Given the description of an element on the screen output the (x, y) to click on. 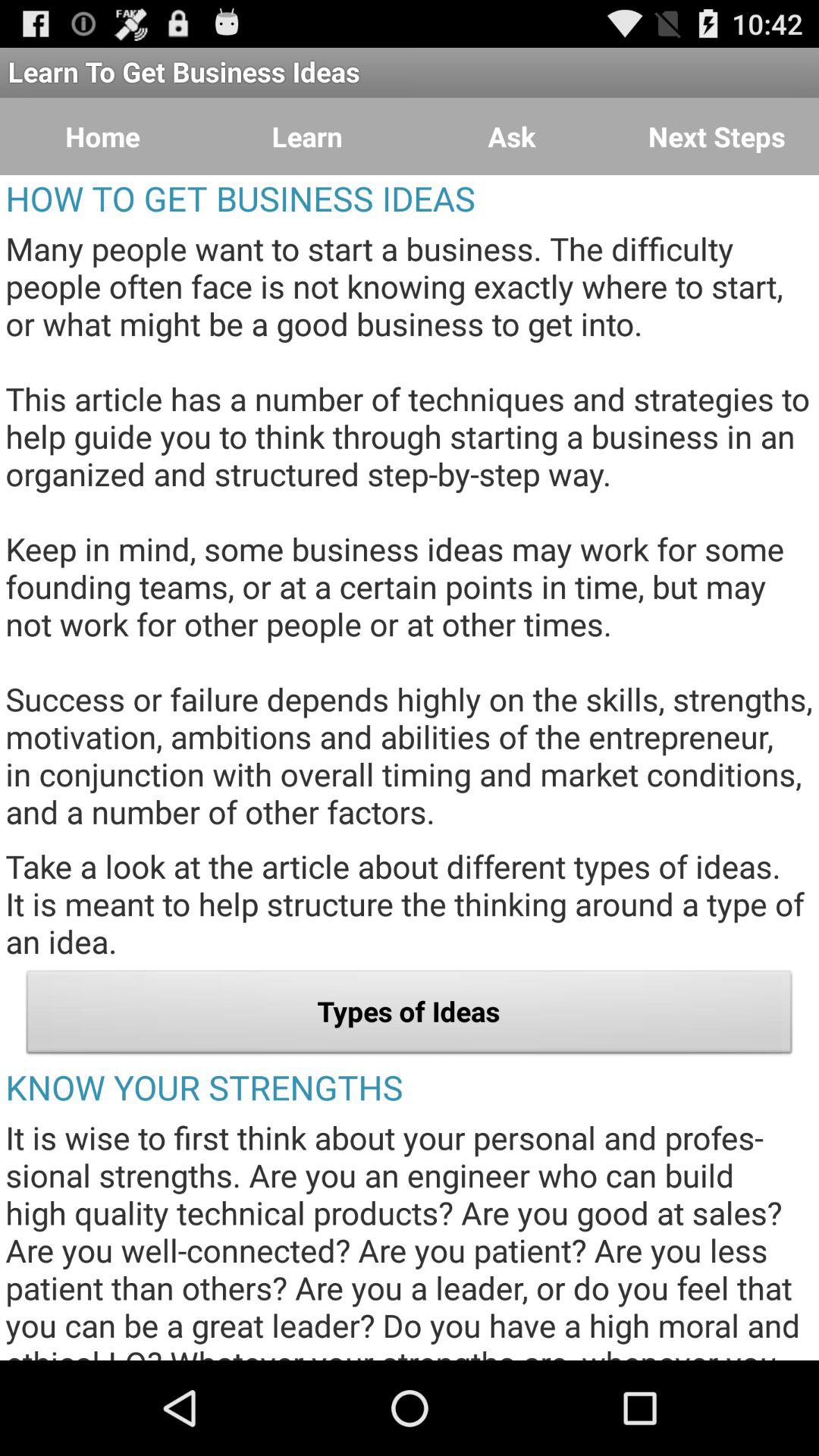
choose item next to the next steps button (511, 136)
